Given the description of an element on the screen output the (x, y) to click on. 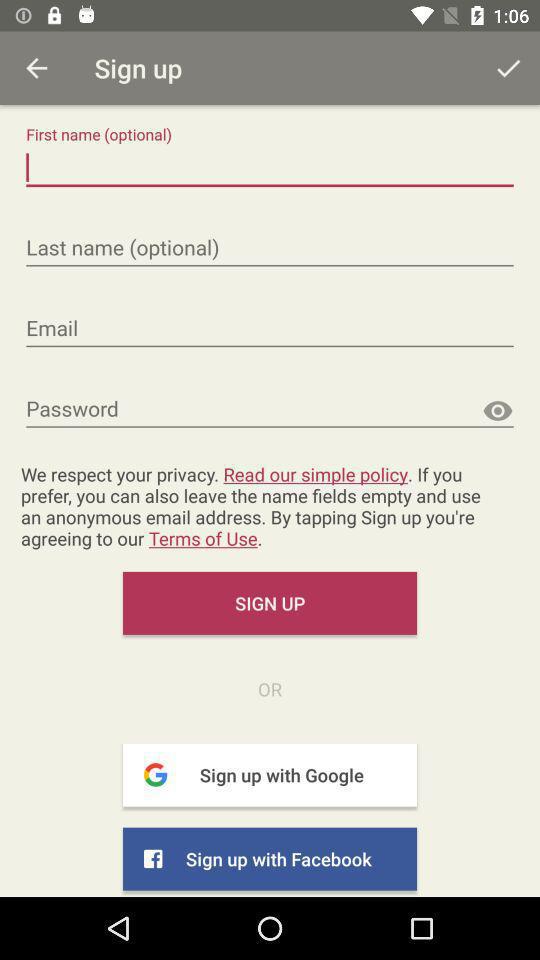
email (270, 329)
